Given the description of an element on the screen output the (x, y) to click on. 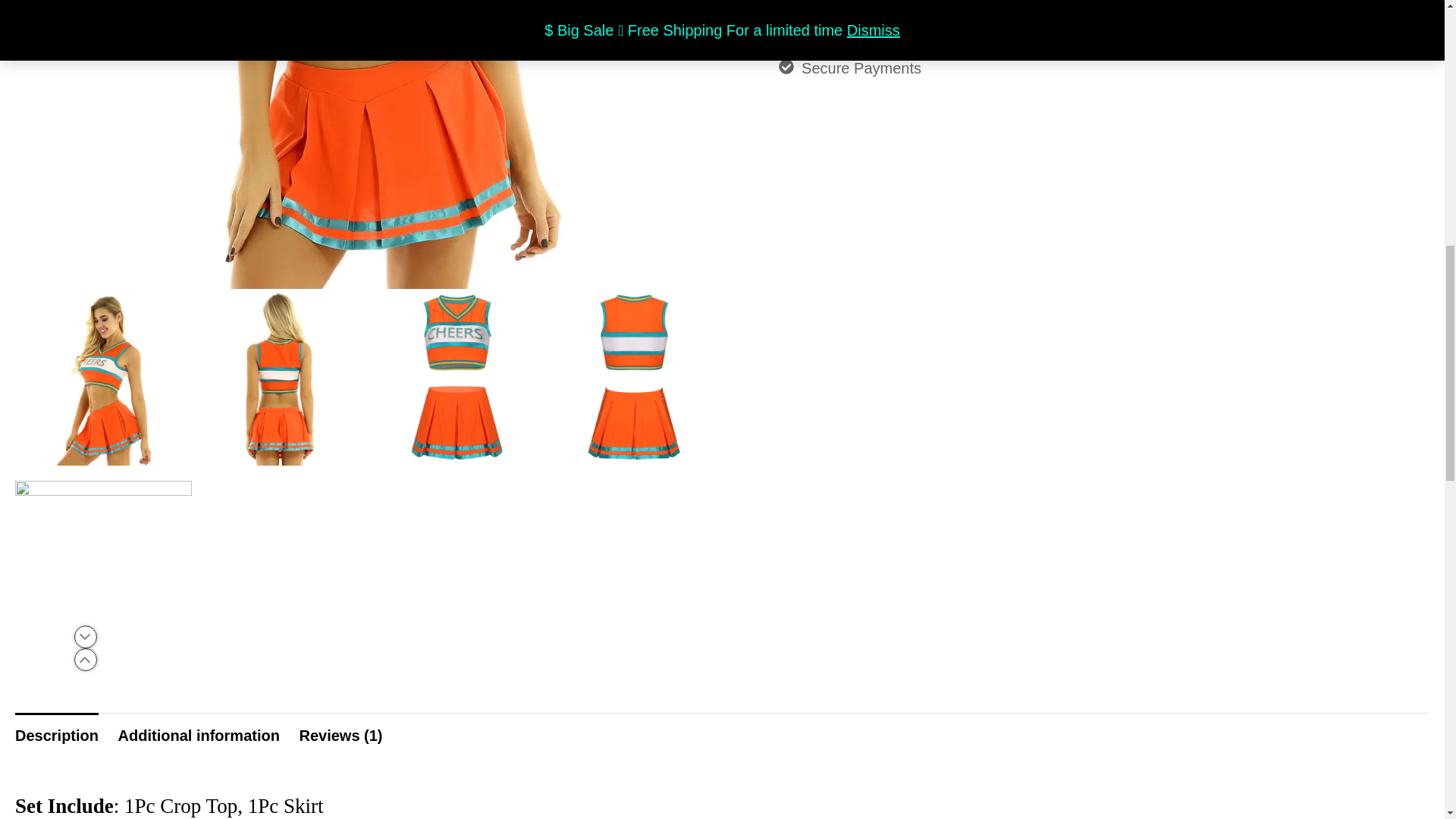
6476-3ae1d1.jpg (280, 376)
6476-ea63dd.jpg (633, 376)
6476-019808.jpg (103, 376)
6476-4141df.jpg (103, 563)
6476-876541.jpg (456, 376)
